Given the description of an element on the screen output the (x, y) to click on. 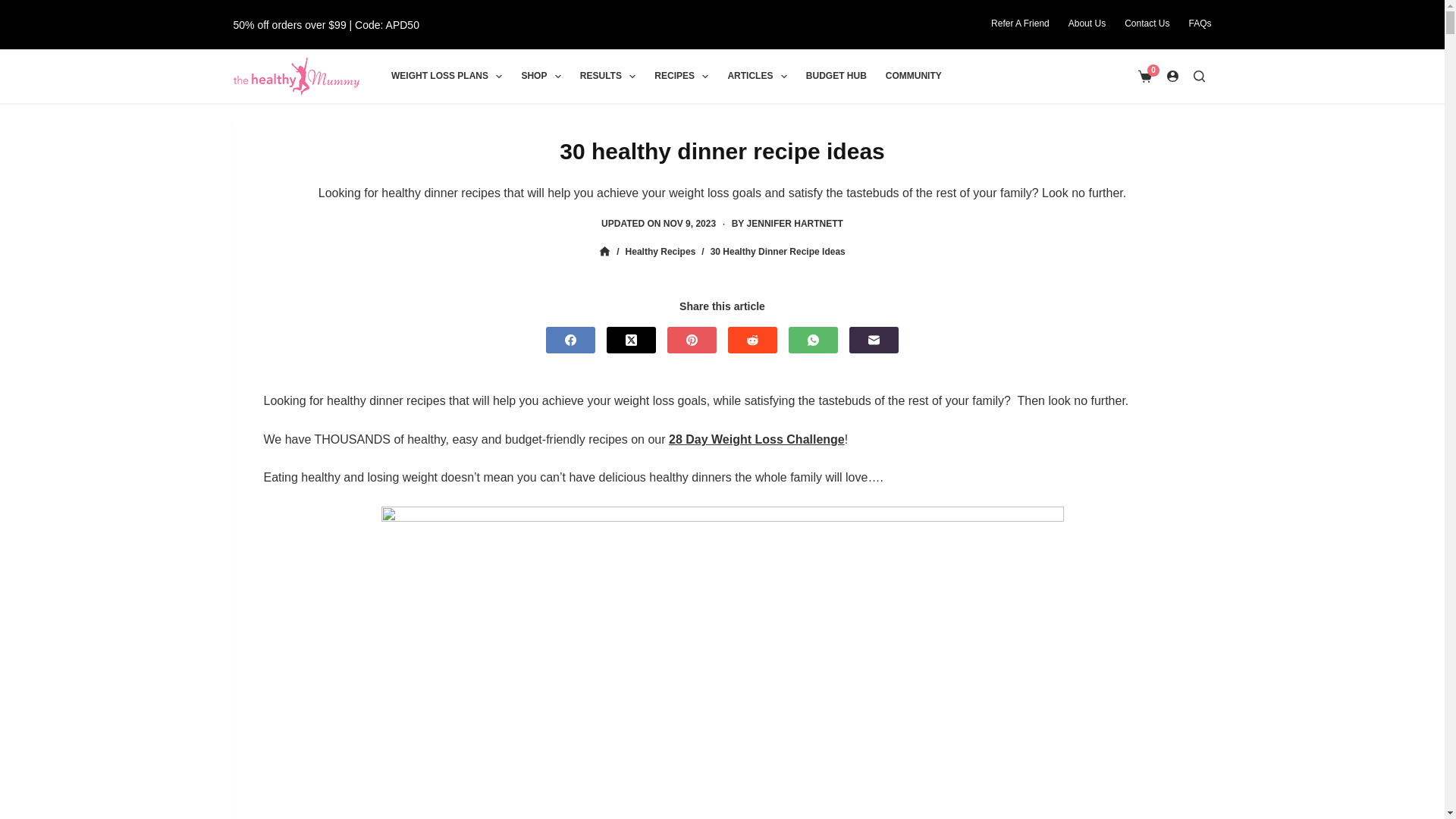
30 healthy dinner recipe ideas (721, 150)
Posts by Jennifer Hartnett (794, 223)
Skip to content (15, 7)
Get our offer (325, 23)
